Given the description of an element on the screen output the (x, y) to click on. 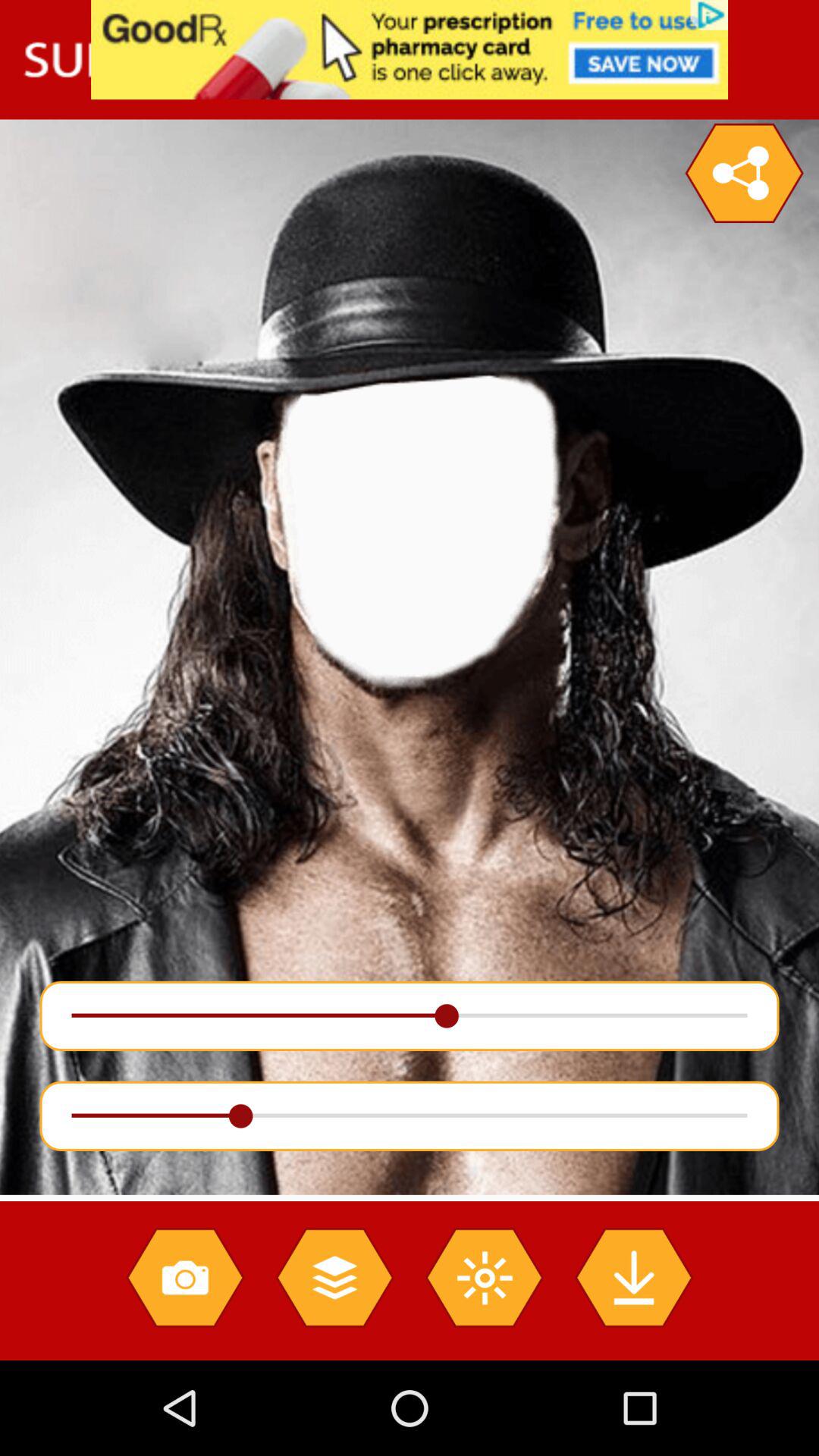
make photo (184, 1277)
